Given the description of an element on the screen output the (x, y) to click on. 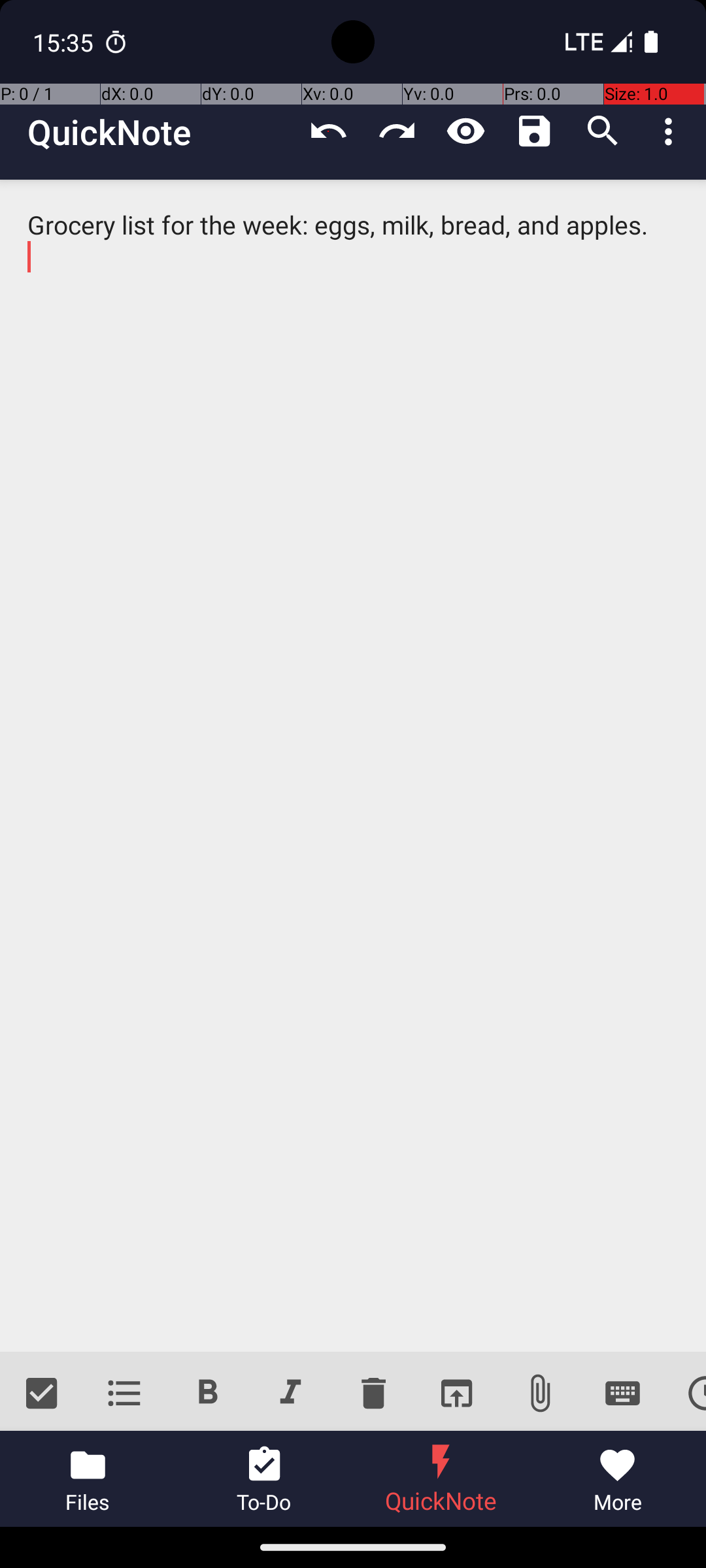
Grocery list for the week: eggs, milk, bread, and apples.
 Element type: android.widget.EditText (353, 765)
